Given the description of an element on the screen output the (x, y) to click on. 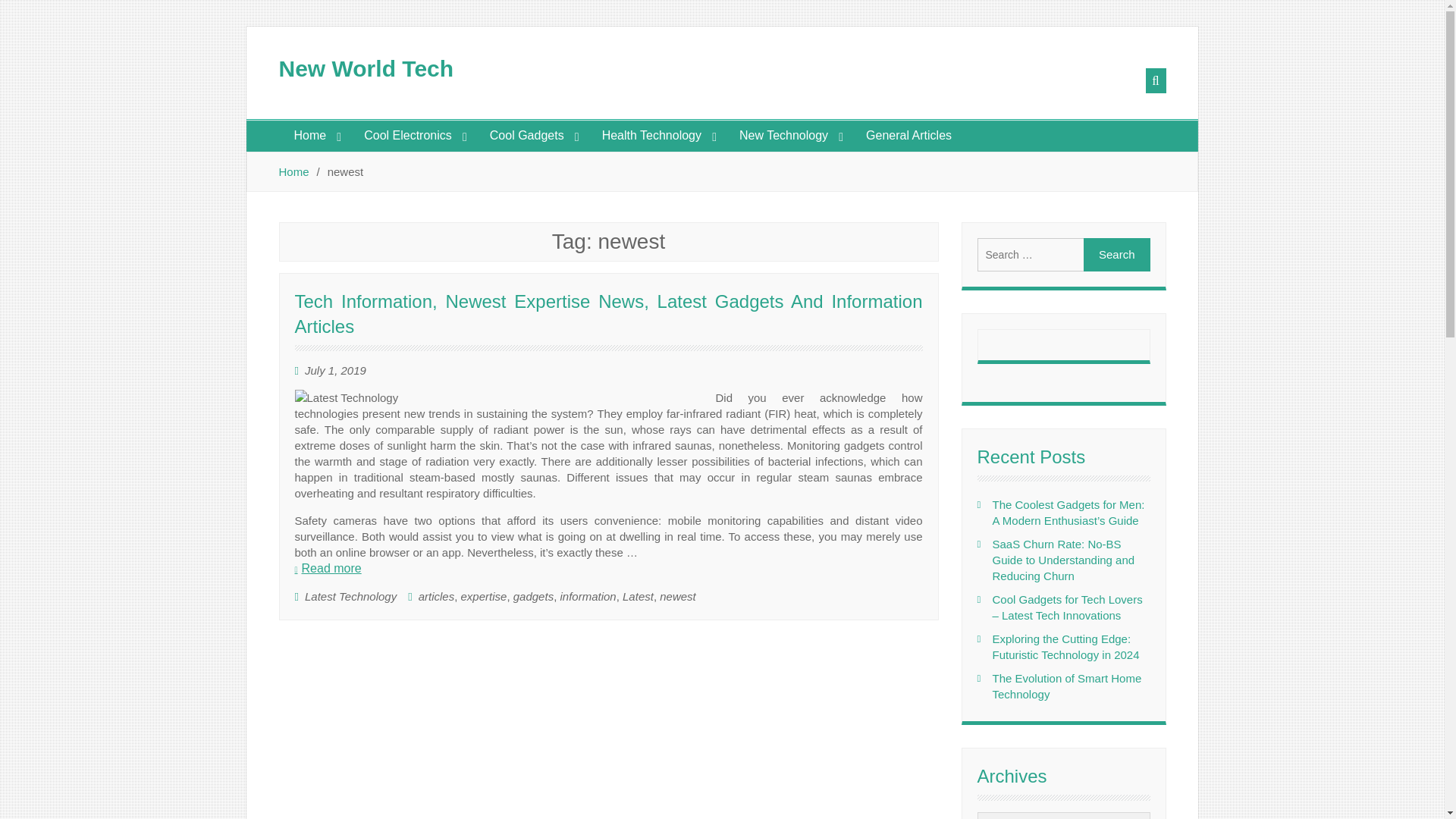
Cool Electronics (411, 135)
Search (1116, 254)
Cool Gadgets (530, 135)
Health Technology (654, 135)
New World Tech (366, 68)
Search (1116, 254)
Home (314, 135)
